Given the description of an element on the screen output the (x, y) to click on. 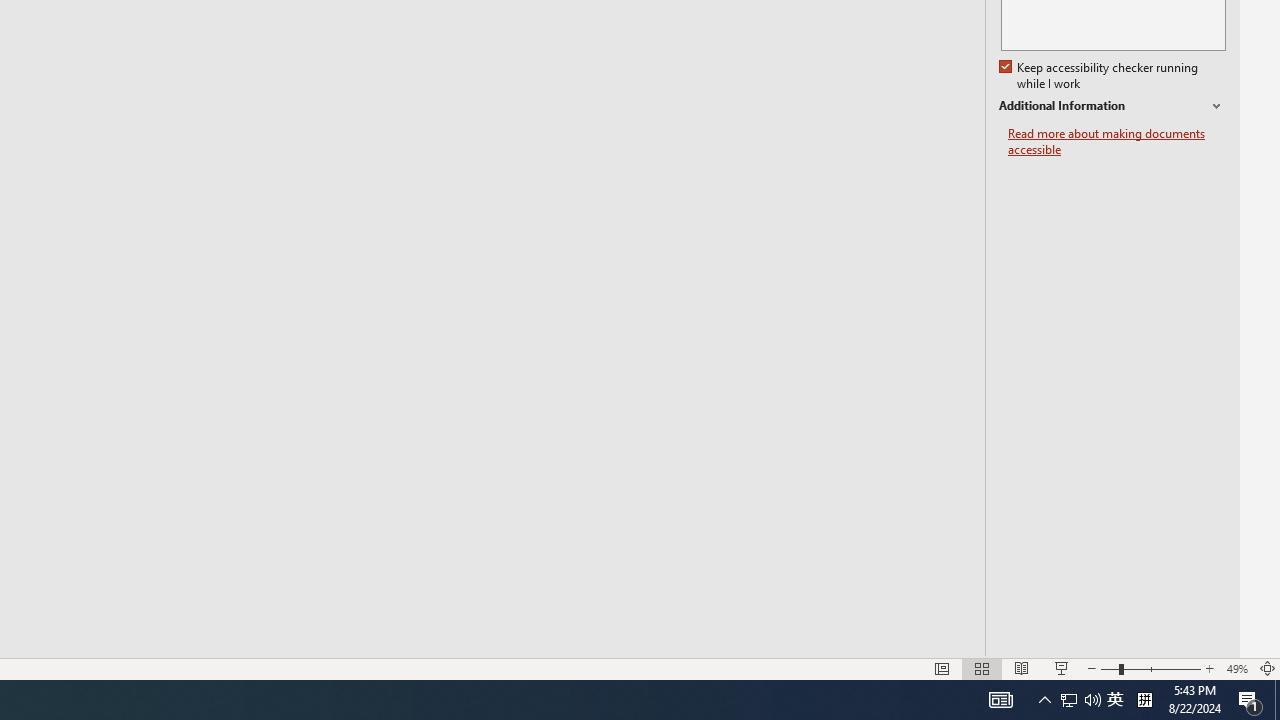
Zoom 49% (1236, 668)
